Given the description of an element on the screen output the (x, y) to click on. 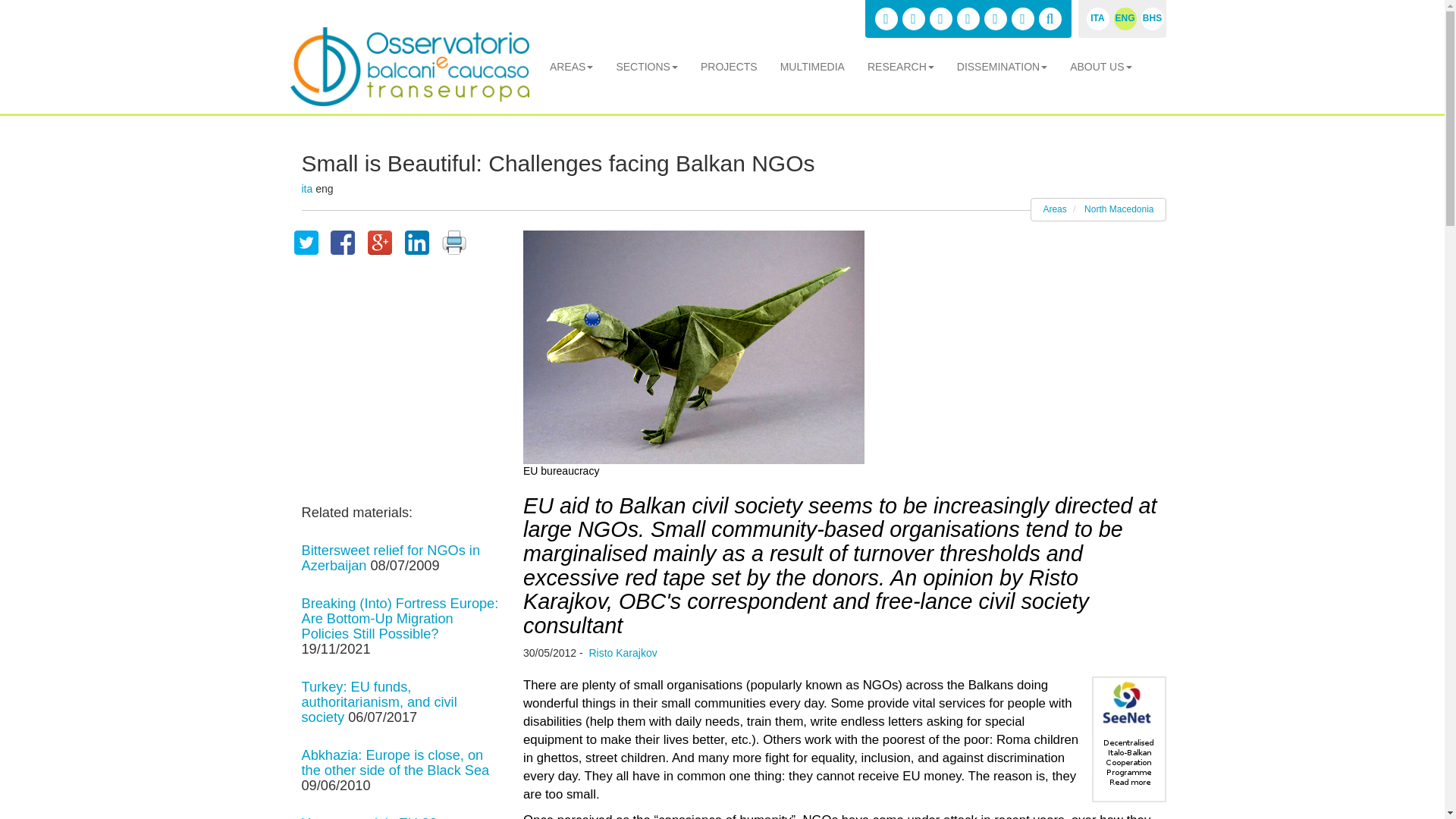
AREAS (571, 66)
Osservatorio Balcani e Caucaso Transeuropa (408, 66)
SECTIONS (647, 66)
